Given the description of an element on the screen output the (x, y) to click on. 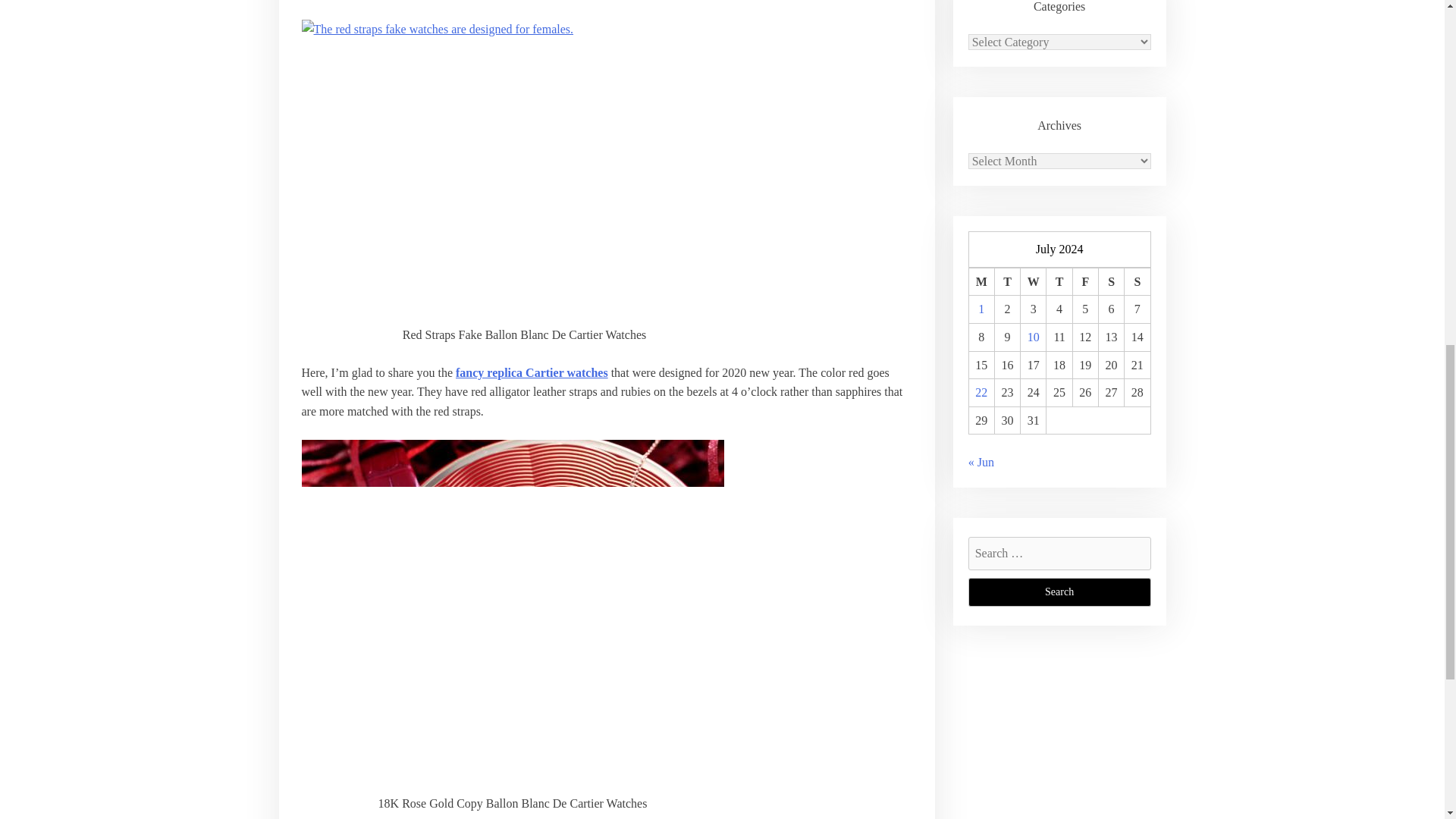
Tuesday (1007, 281)
Sunday (1137, 281)
fancy replica Cartier watches (531, 372)
Friday (1084, 281)
10 (1033, 336)
Search (1059, 592)
Thursday (1058, 281)
Search (1059, 592)
22 (981, 391)
Saturday (1110, 281)
Monday (981, 281)
Wednesday (1033, 281)
